Given the description of an element on the screen output the (x, y) to click on. 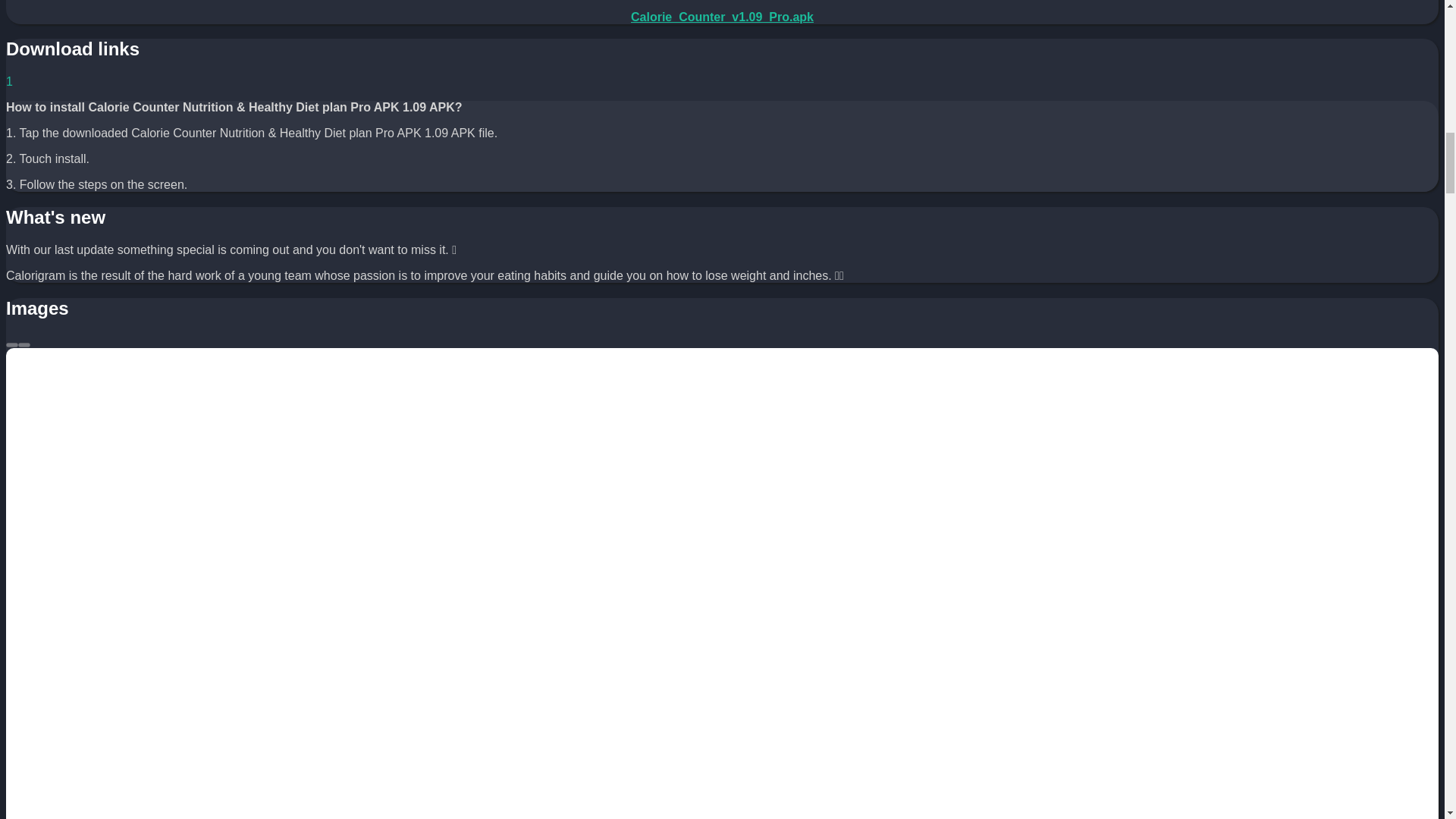
Next (23, 345)
Previous (11, 345)
